Given the description of an element on the screen output the (x, y) to click on. 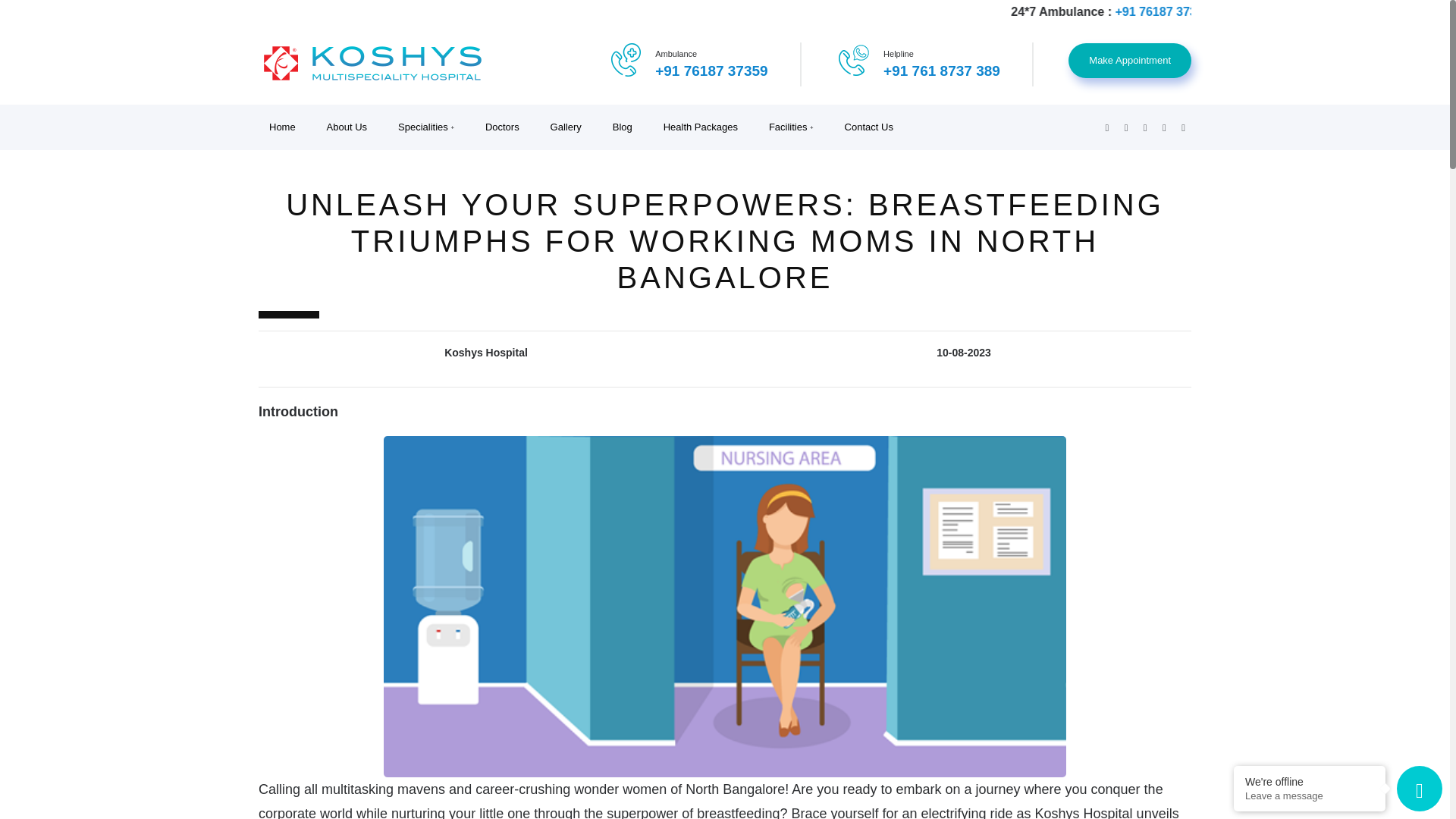
Blog (627, 127)
Doctors (507, 127)
Health Packages (705, 127)
Specialities (430, 127)
Leave a message (1309, 795)
Make Appointment (1129, 60)
We're offline (1309, 781)
Home (287, 127)
Gallery (571, 127)
About Us (351, 127)
Facilities (796, 127)
